Given the description of an element on the screen output the (x, y) to click on. 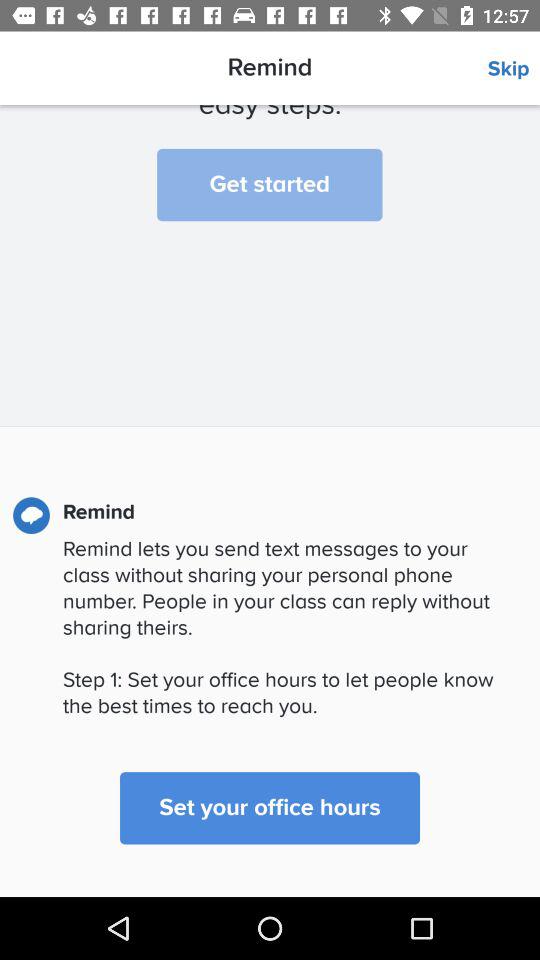
scroll to the skip icon (513, 69)
